Given the description of an element on the screen output the (x, y) to click on. 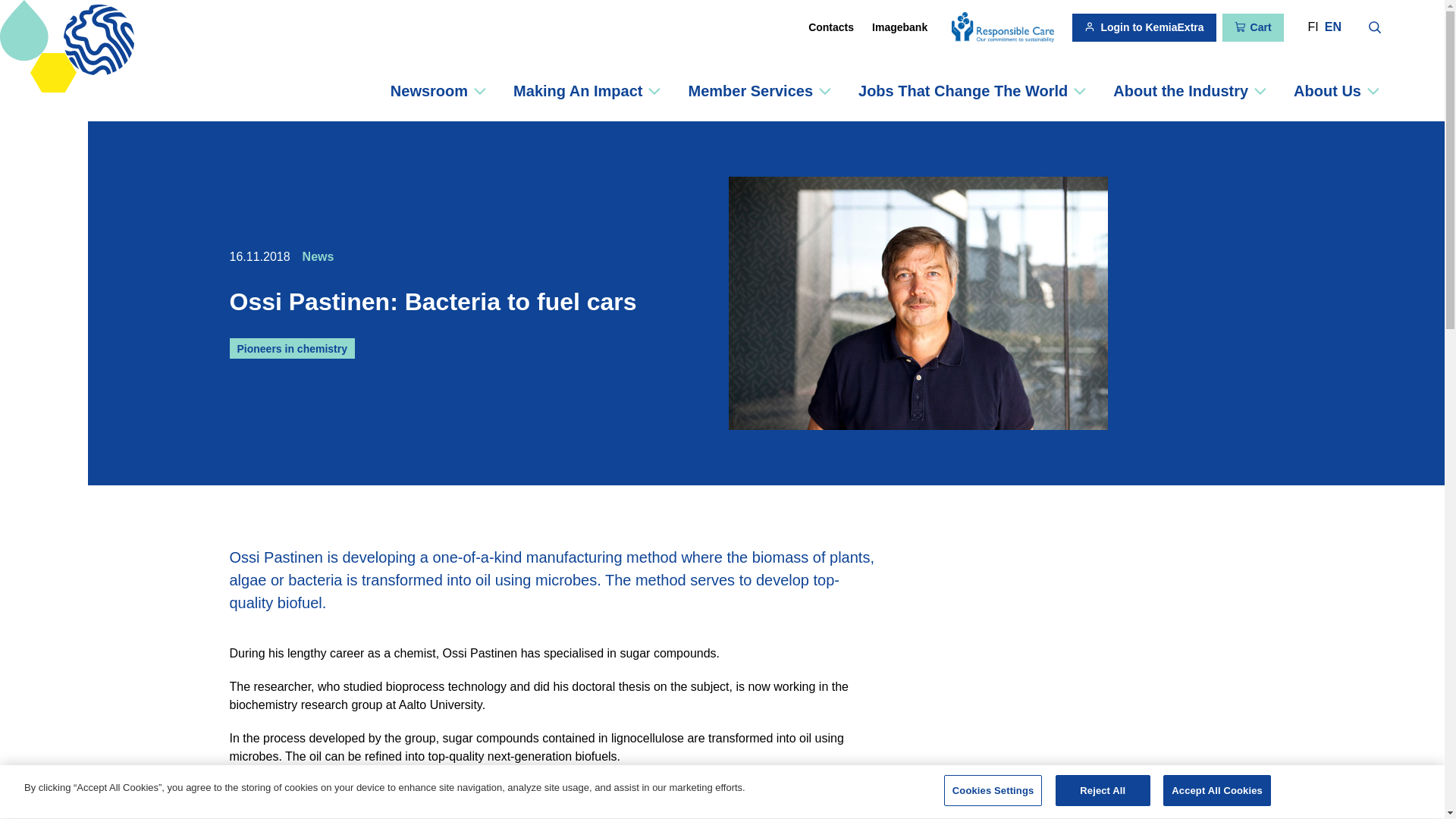
Newsroom (438, 90)
Kemianteollisuus (25, 91)
Cart (1253, 27)
Making An Impact (586, 90)
Contacts (831, 27)
Imagebank (899, 27)
EN (1332, 26)
Jobs That Change The World (971, 90)
Member Services (759, 90)
Login to KemiaExtra (1143, 27)
